Given the description of an element on the screen output the (x, y) to click on. 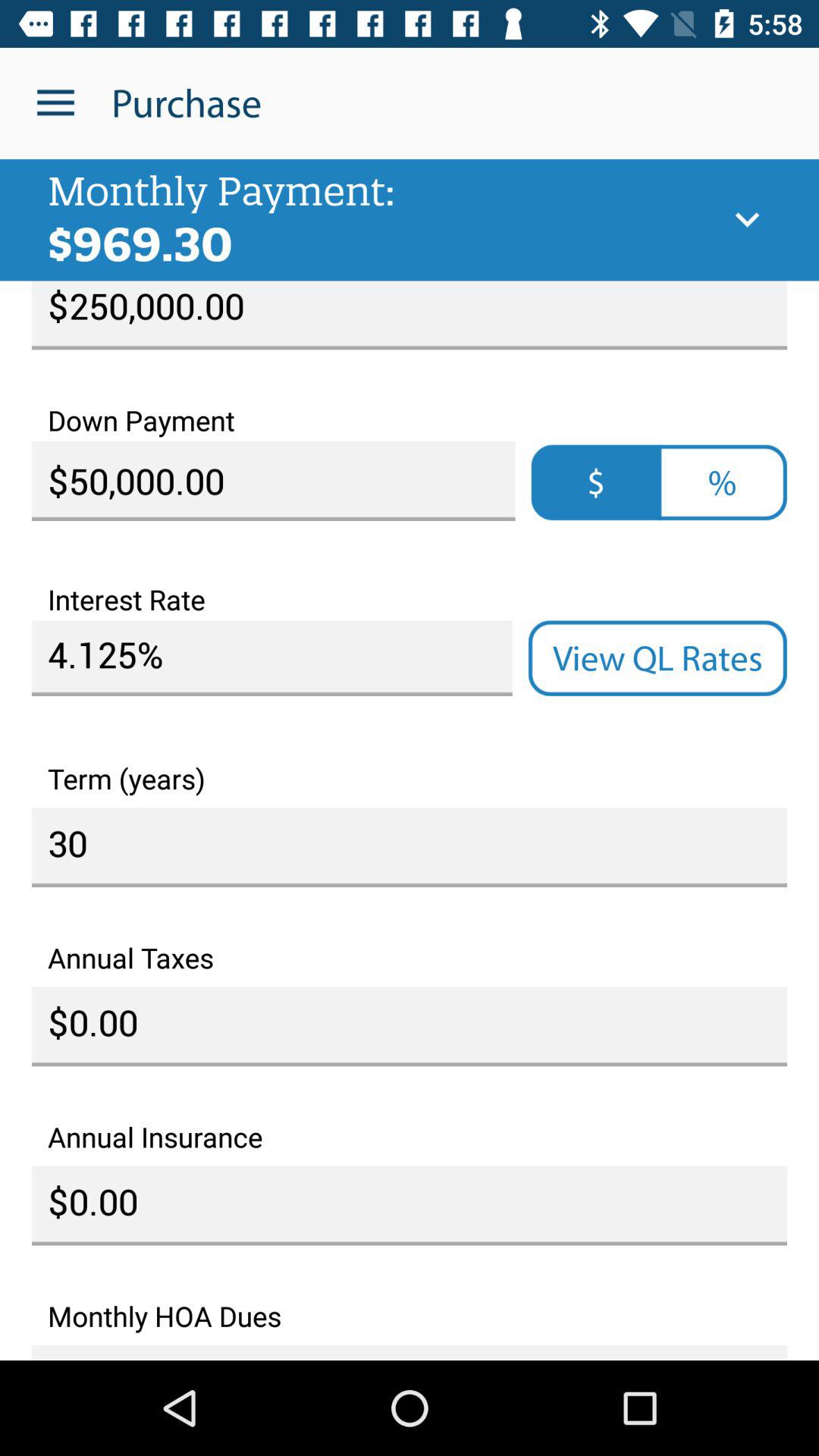
launch icon next to monthly payment: (747, 219)
